Given the description of an element on the screen output the (x, y) to click on. 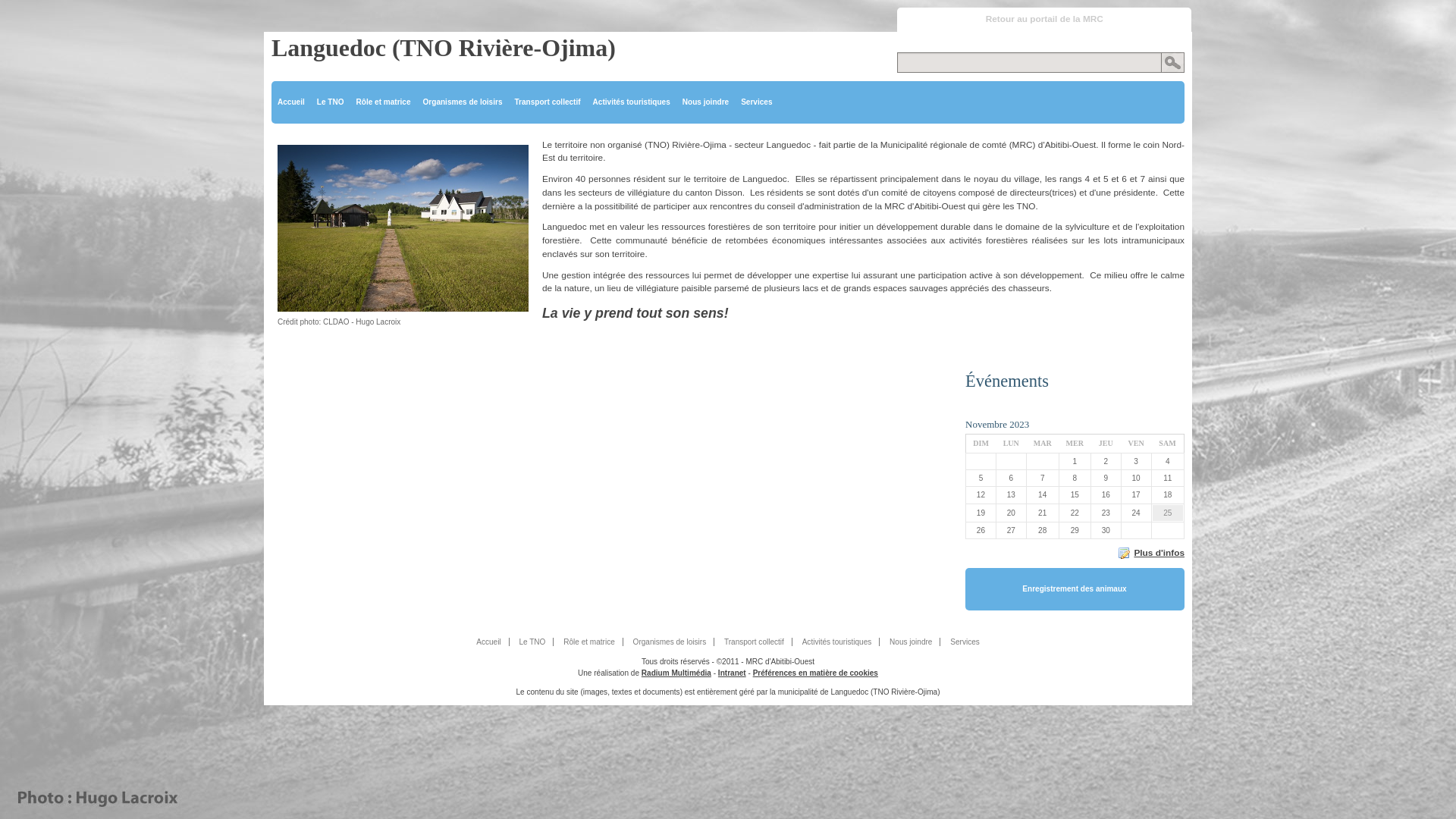
Intranet Element type: text (732, 672)
Transport collectif Element type: text (547, 102)
Le TNO Element type: text (330, 102)
Organismes de loisirs Element type: text (670, 641)
Organismes de loisirs Element type: text (462, 102)
Accueil Element type: text (488, 641)
Services Element type: text (756, 102)
Enregistrement des animaux Element type: text (1074, 588)
Services Element type: text (964, 641)
Le TNO Element type: text (532, 641)
Transport collectif Element type: text (754, 641)
Nous joindre Element type: text (705, 102)
Accueil Element type: text (290, 102)
Plus d'infos Element type: text (1151, 552)
Retour au portail de la MRC Element type: text (1044, 19)
Nous joindre Element type: text (910, 641)
